Given the description of an element on the screen output the (x, y) to click on. 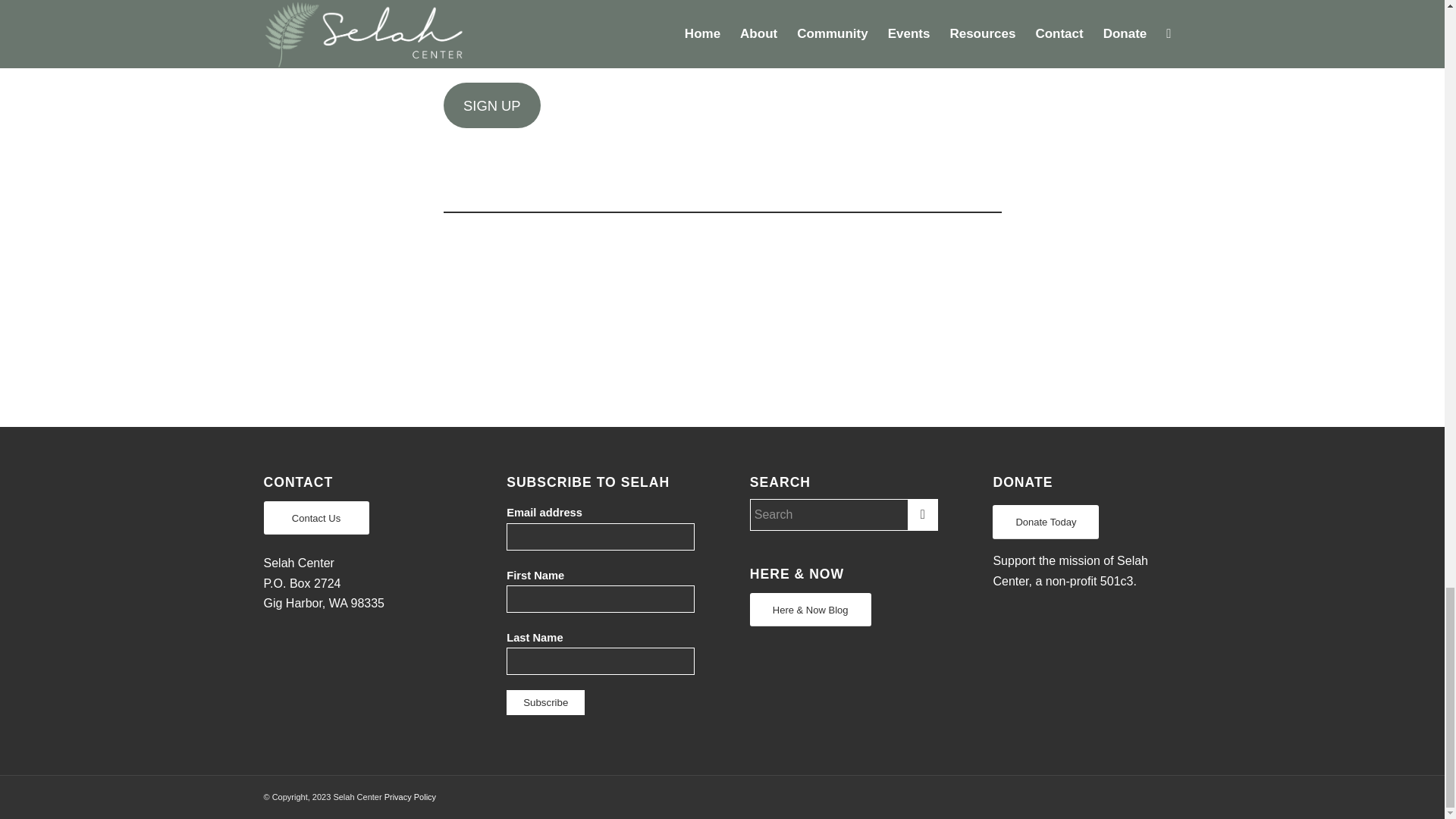
SIGN UP (491, 104)
Donate Today (1045, 521)
Donate Today (1045, 521)
Contact Us (316, 518)
Privacy Policy (409, 796)
Subscribe (545, 702)
Subscribe (545, 702)
